Given the description of an element on the screen output the (x, y) to click on. 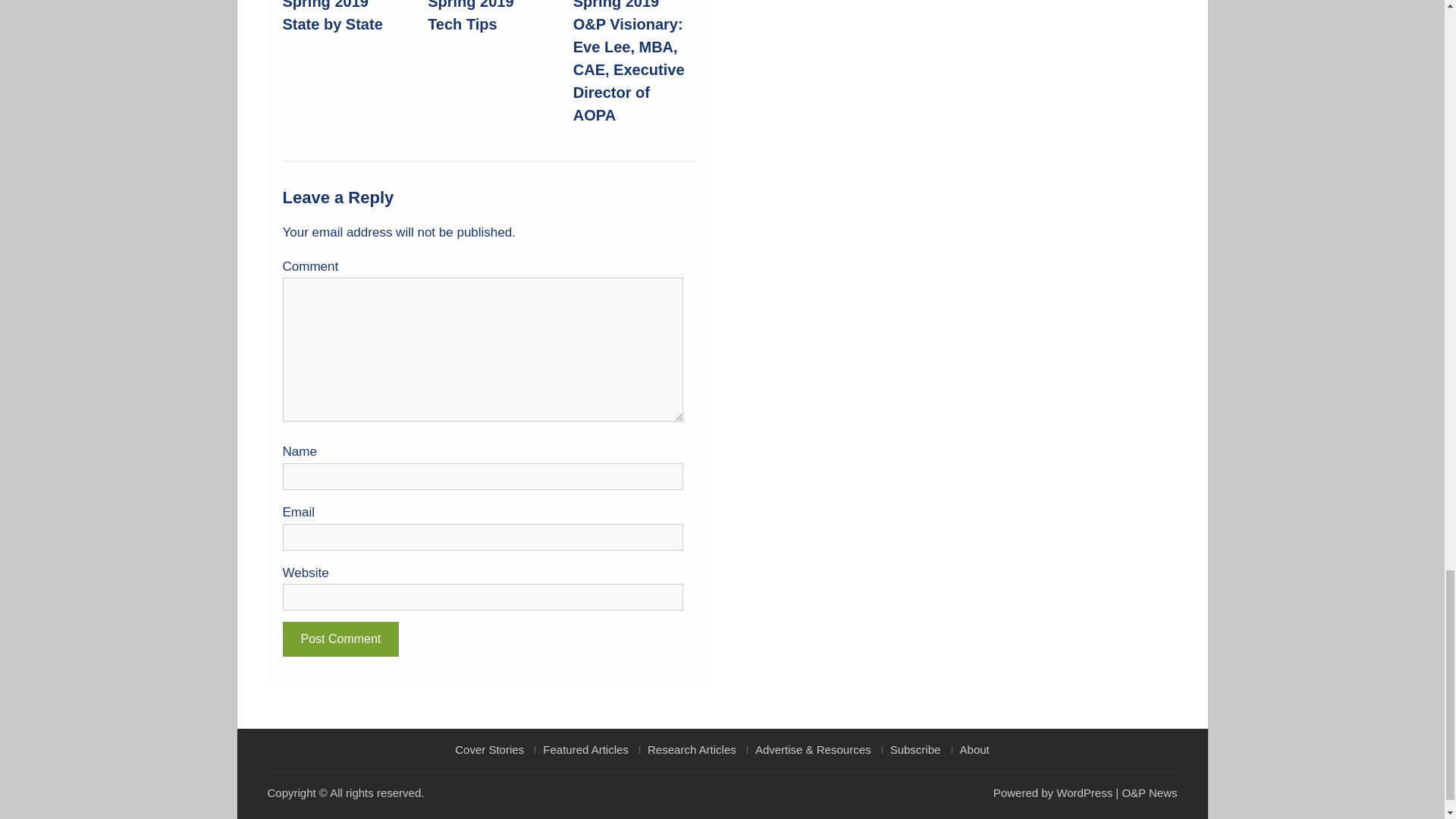
Post Comment (340, 638)
Post Comment (340, 638)
Spring 2019 State by State (331, 16)
Spring 2019 Tech Tips (470, 16)
